Given the description of an element on the screen output the (x, y) to click on. 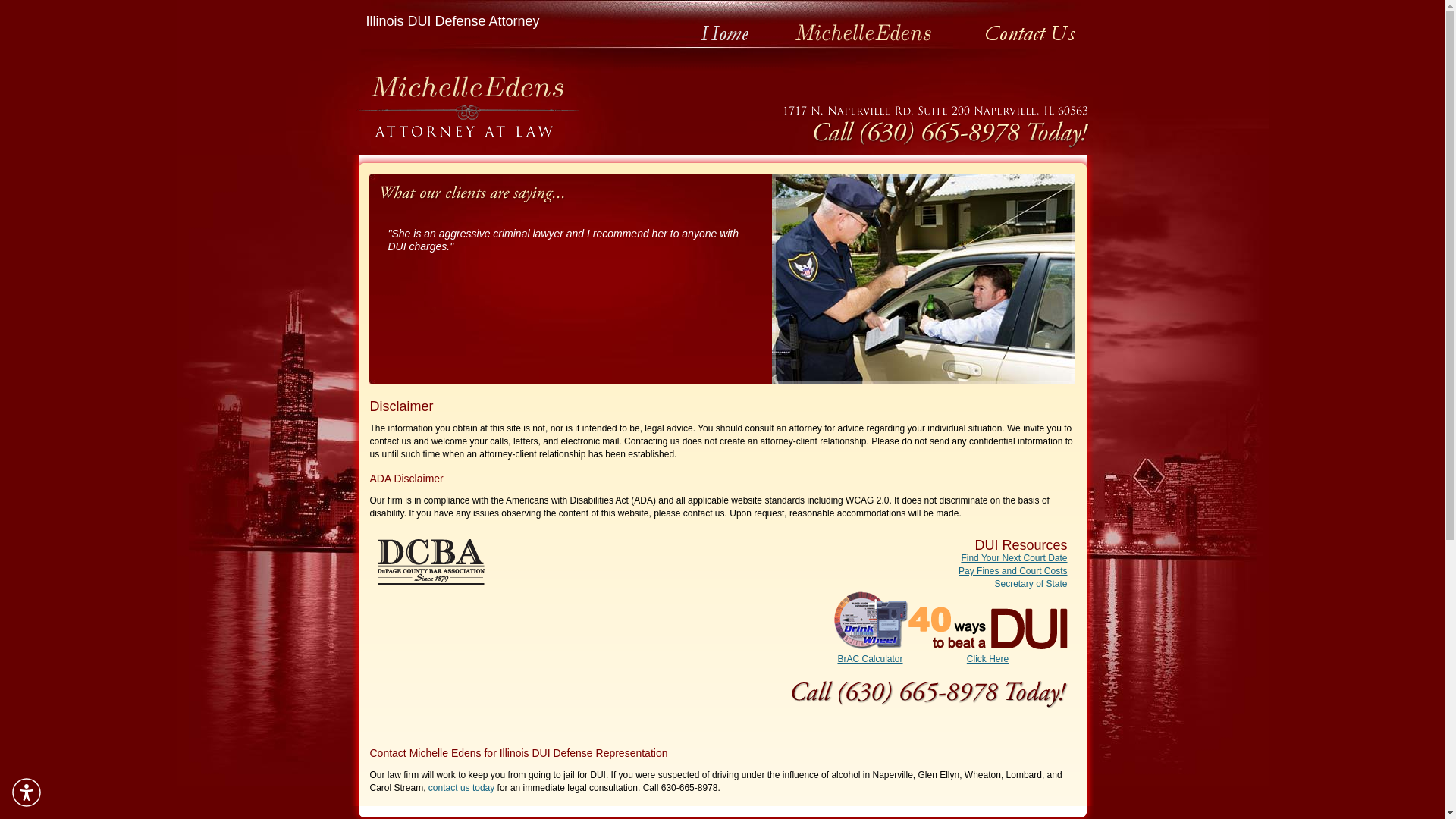
Accessibility Menu (26, 792)
Michelle Edens (864, 34)
Secretary of State (1030, 583)
DUI (923, 278)
Click Here (987, 652)
contact us today (461, 787)
Michelle Edens (467, 102)
Pay Fines and Court Costs (1012, 570)
Find Your Next Court Date (1013, 557)
1717 N. Naperville Rd.Suite 200 Naperville, IL 60563 (934, 110)
BrAC Calculator (870, 652)
Call Today! (929, 686)
Contact Us (1029, 35)
Home (722, 35)
